Given the description of an element on the screen output the (x, y) to click on. 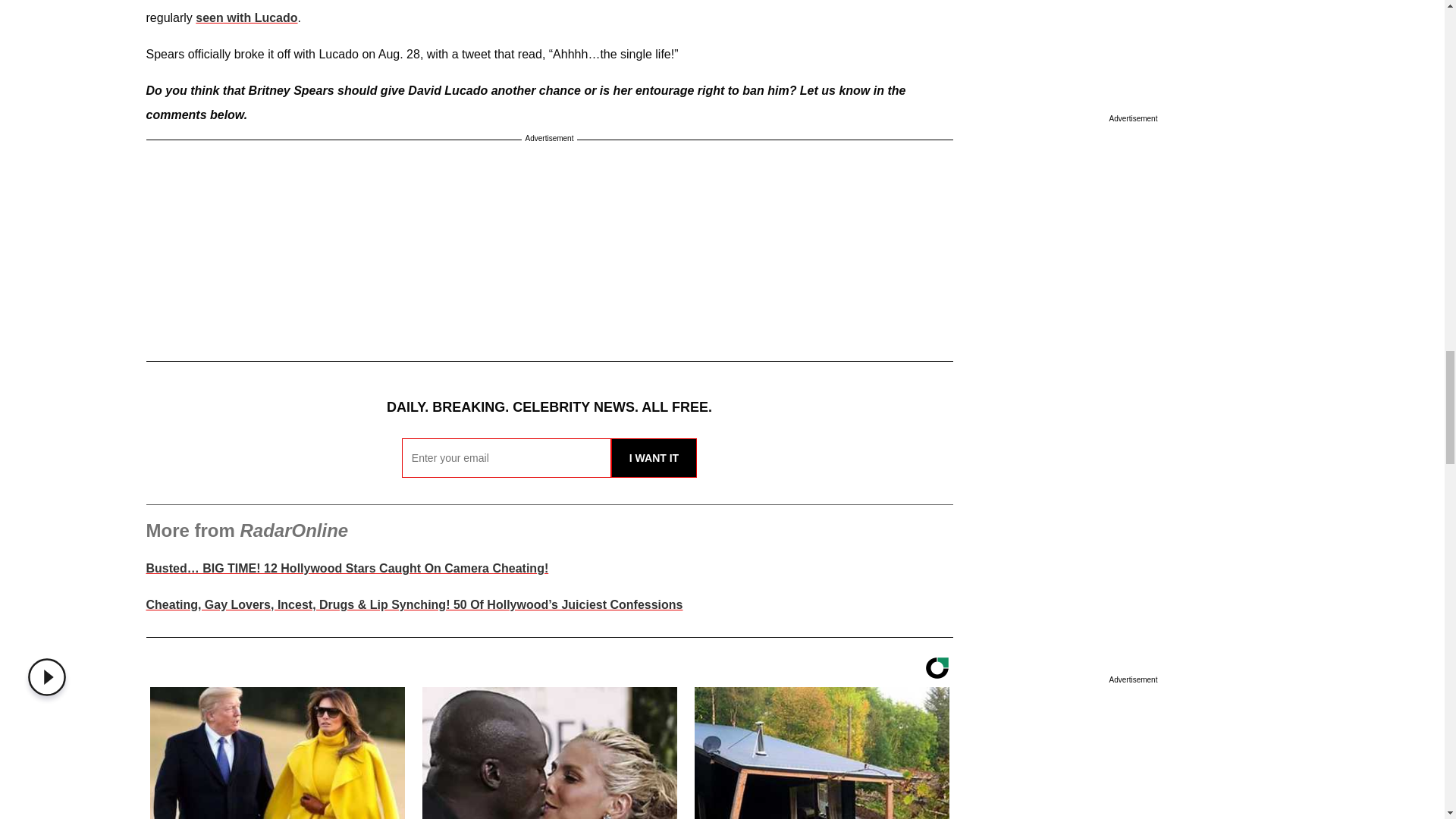
seen with Lucado (246, 17)
I WANT IT (654, 457)
I WANT IT (654, 457)
